Given the description of an element on the screen output the (x, y) to click on. 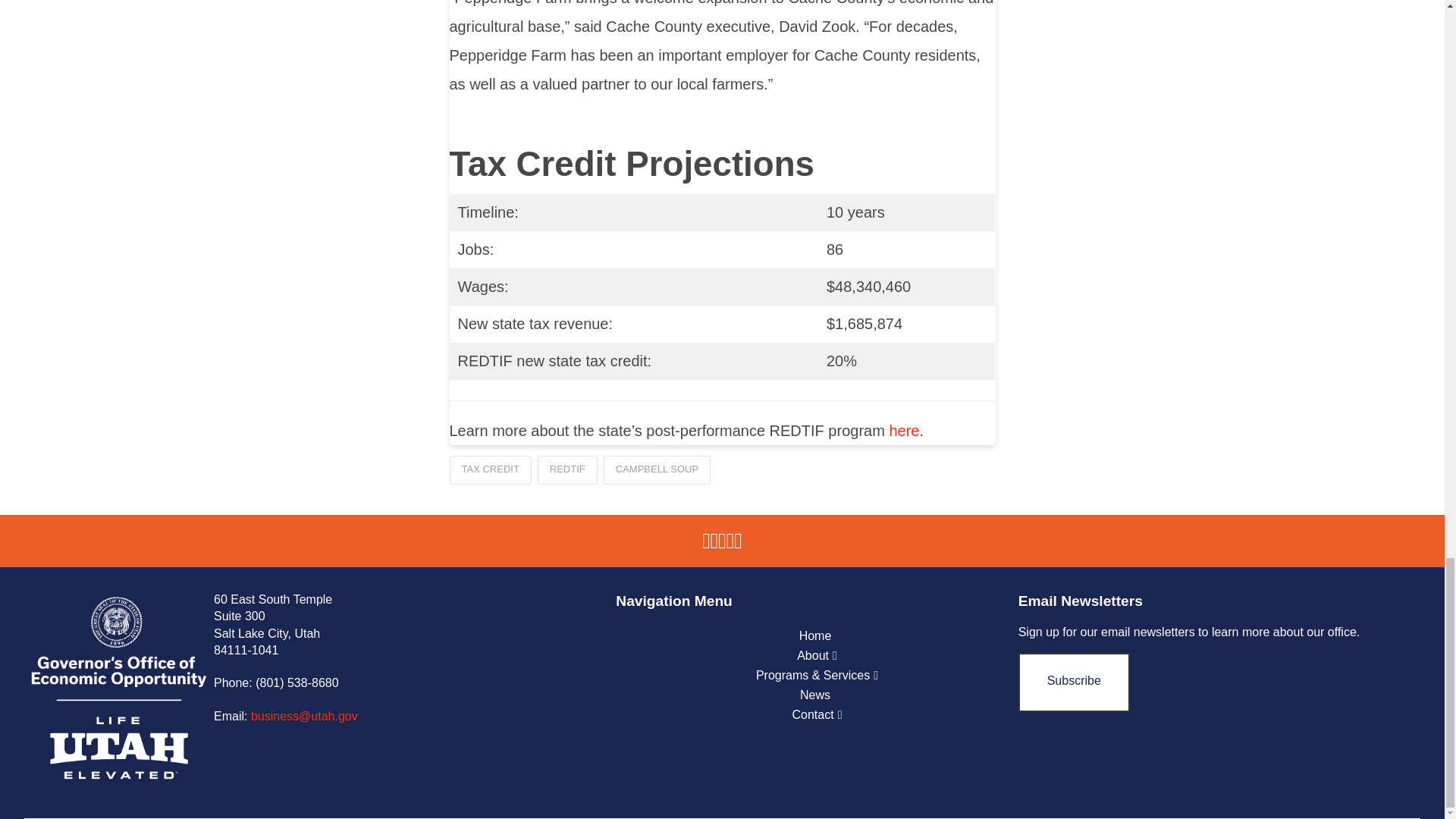
here (903, 430)
REDTIF (566, 469)
TAX CREDIT (489, 469)
CAMPBELL SOUP (657, 469)
About (816, 655)
Home (816, 636)
